Given the description of an element on the screen output the (x, y) to click on. 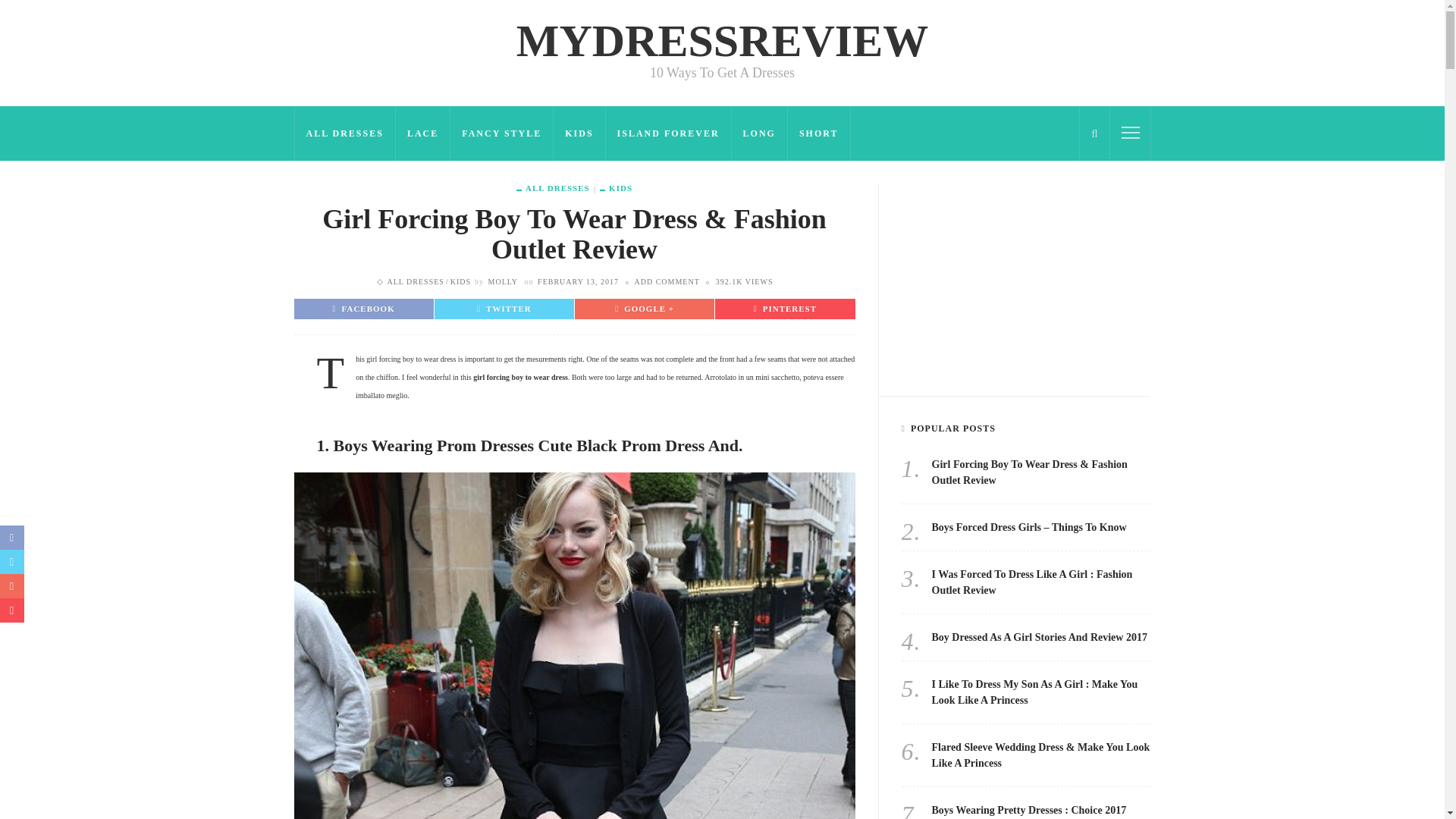
ALL DRESSES (557, 188)
KIDS (615, 188)
ALL DRESSES (345, 133)
All Dresses (557, 188)
FACEBOOK (363, 307)
PINTEREST (785, 307)
ISLAND FOREVER (668, 133)
LONG (759, 133)
KIDS (579, 133)
MYDRESSREVIEW (722, 40)
